Given the description of an element on the screen output the (x, y) to click on. 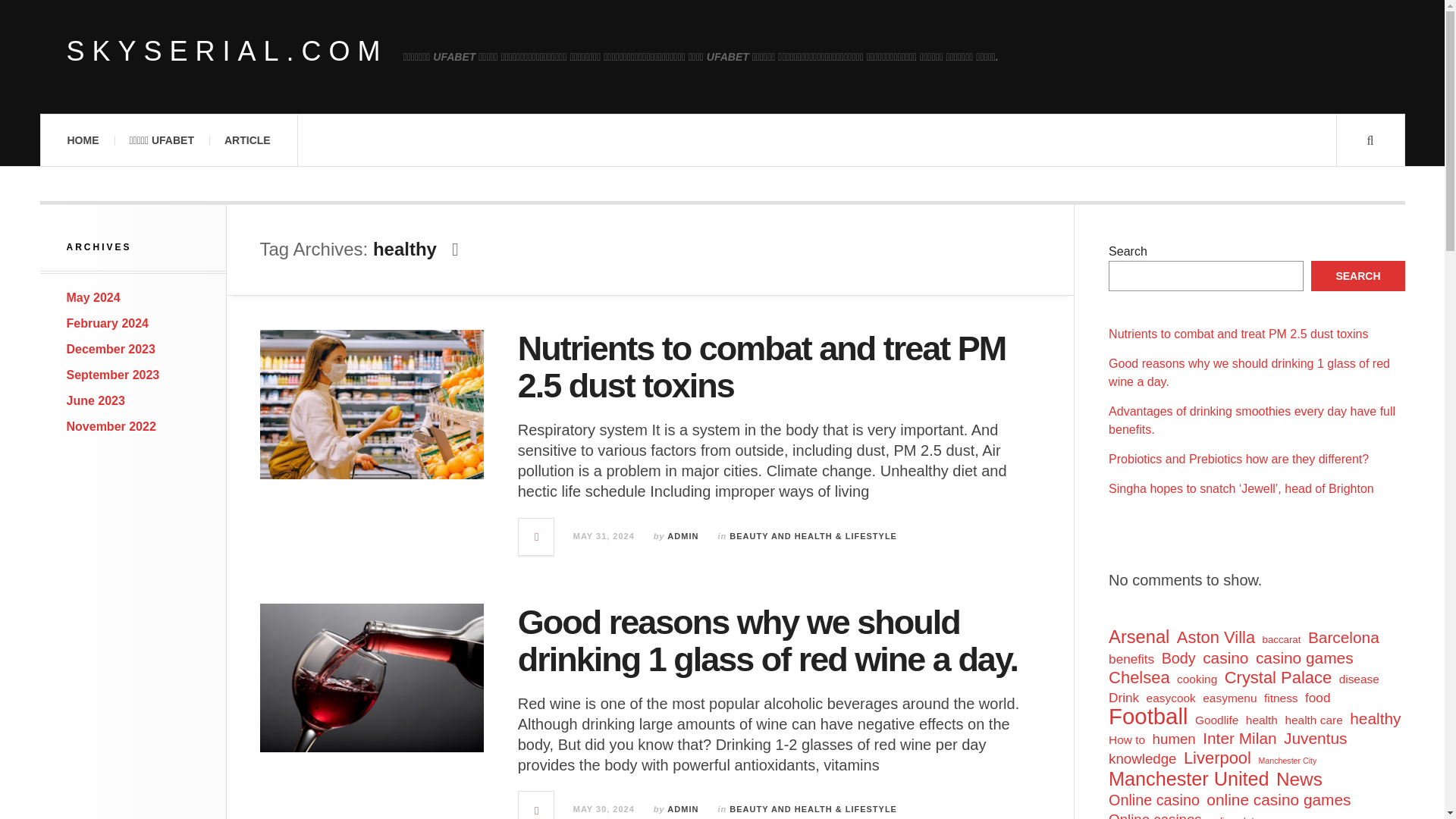
February 2024 (107, 323)
Posts by admin (682, 809)
September 2023 (113, 374)
May 2024 (93, 297)
ADMIN (682, 809)
December 2023 (110, 349)
Read More... (536, 536)
skyserial.com (227, 51)
Posts by admin (682, 535)
November 2022 (110, 426)
Read More... (536, 805)
Nutrients to combat and treat PM 2.5 dust toxins (762, 367)
ADMIN (682, 535)
HOME (81, 140)
